Given the description of an element on the screen output the (x, y) to click on. 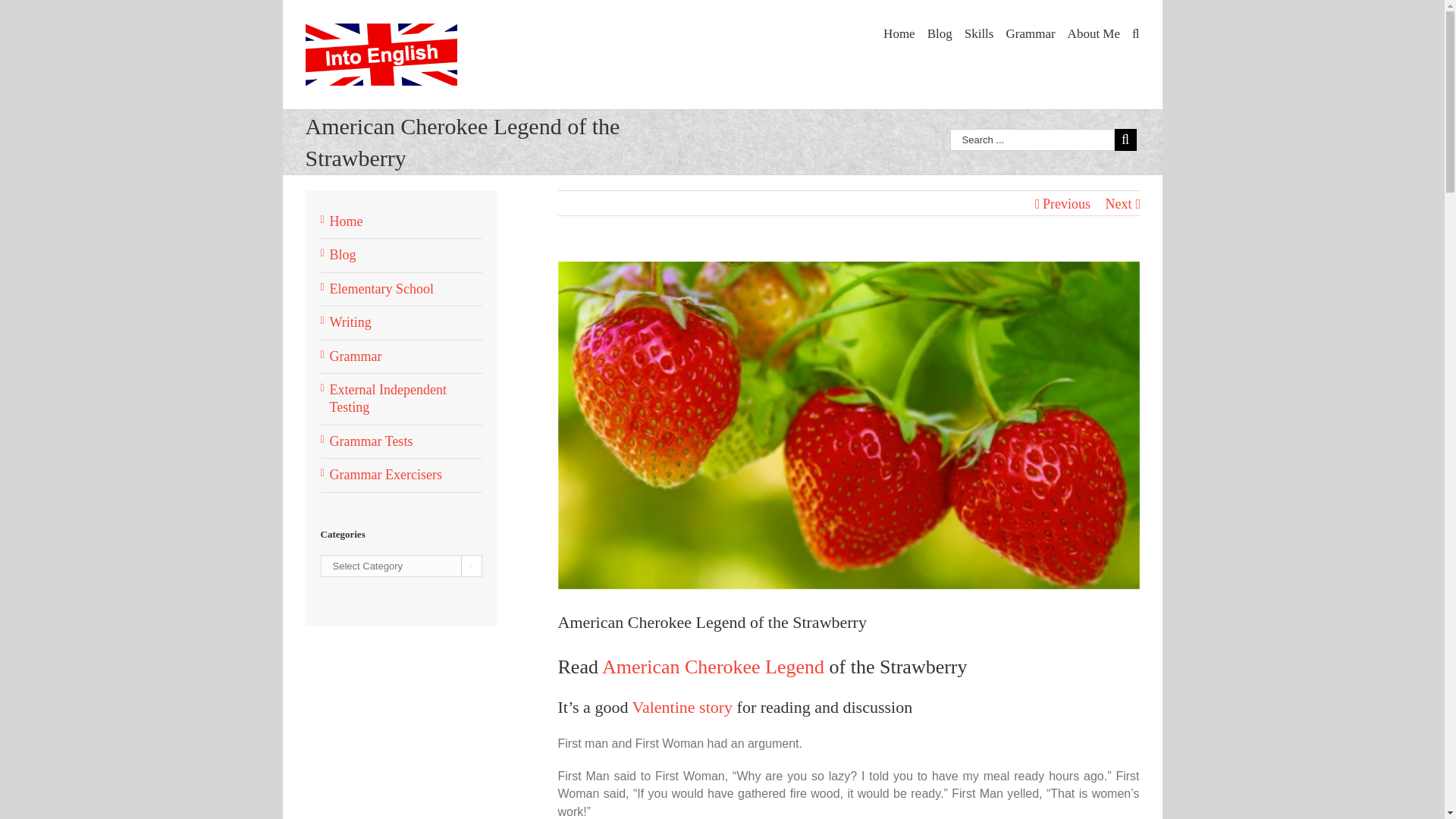
American Cherokee Legend (713, 667)
Blog (939, 31)
Grammar (1030, 31)
Next (1118, 203)
Home (899, 31)
Valentine story (681, 706)
Skills (978, 31)
Previous (1066, 203)
About Me (1093, 31)
